Given the description of an element on the screen output the (x, y) to click on. 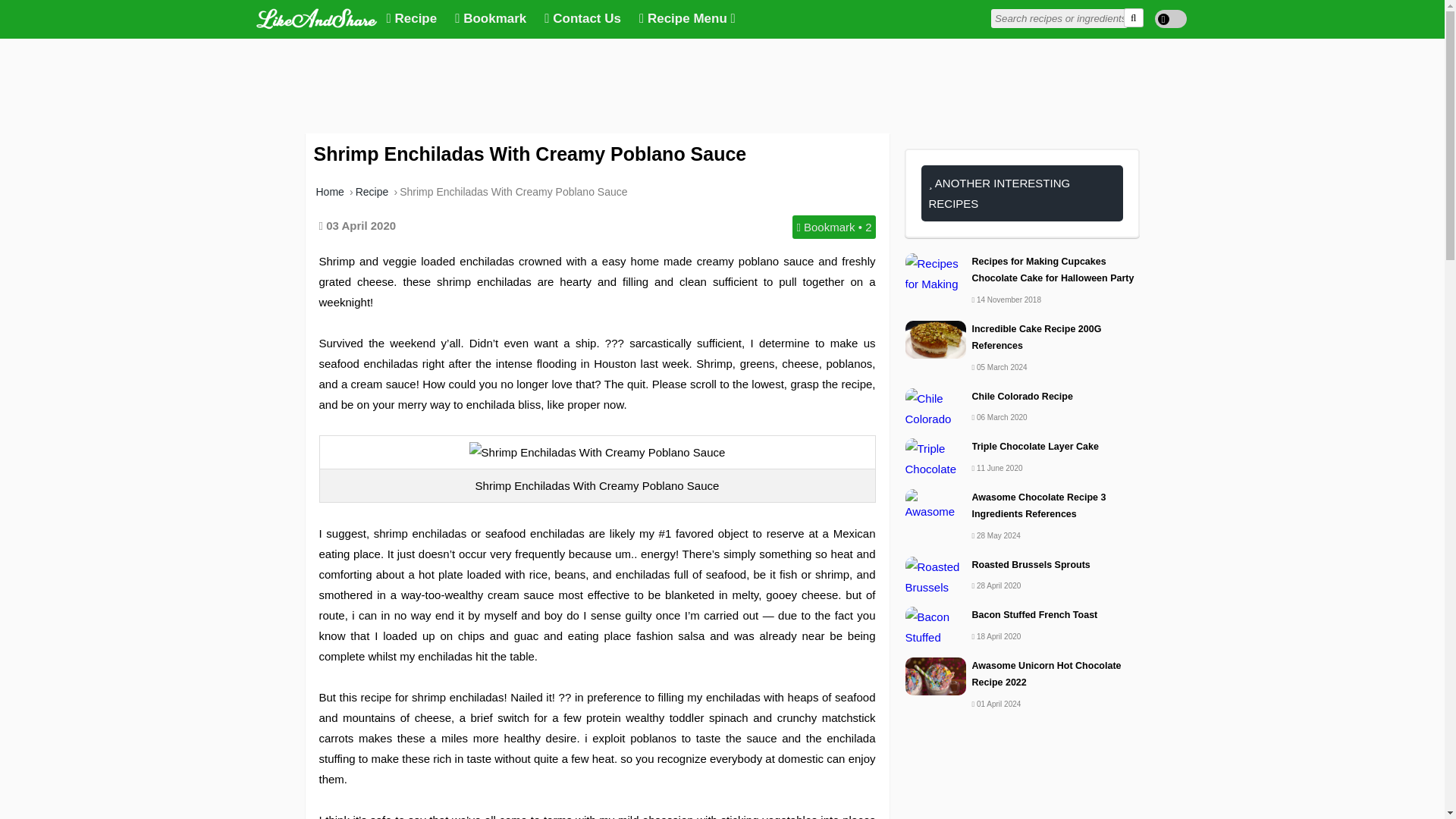
Awasome Chocolate Recipe 3 Ingredients References (1021, 505)
Shrimp Enchiladas With Creamy Poblano Sauce (596, 452)
Home (329, 191)
Bookmark (490, 19)
Recipe (371, 191)
Recipe Menu (687, 19)
Triple Chocolate Layer Cake (1021, 446)
Awasome Unicorn Hot Chocolate Recipe 2022 (1021, 674)
Contact Us (582, 19)
Shrimp Enchiladas With Creamy Poblano Sauce (512, 191)
